Given the description of an element on the screen output the (x, y) to click on. 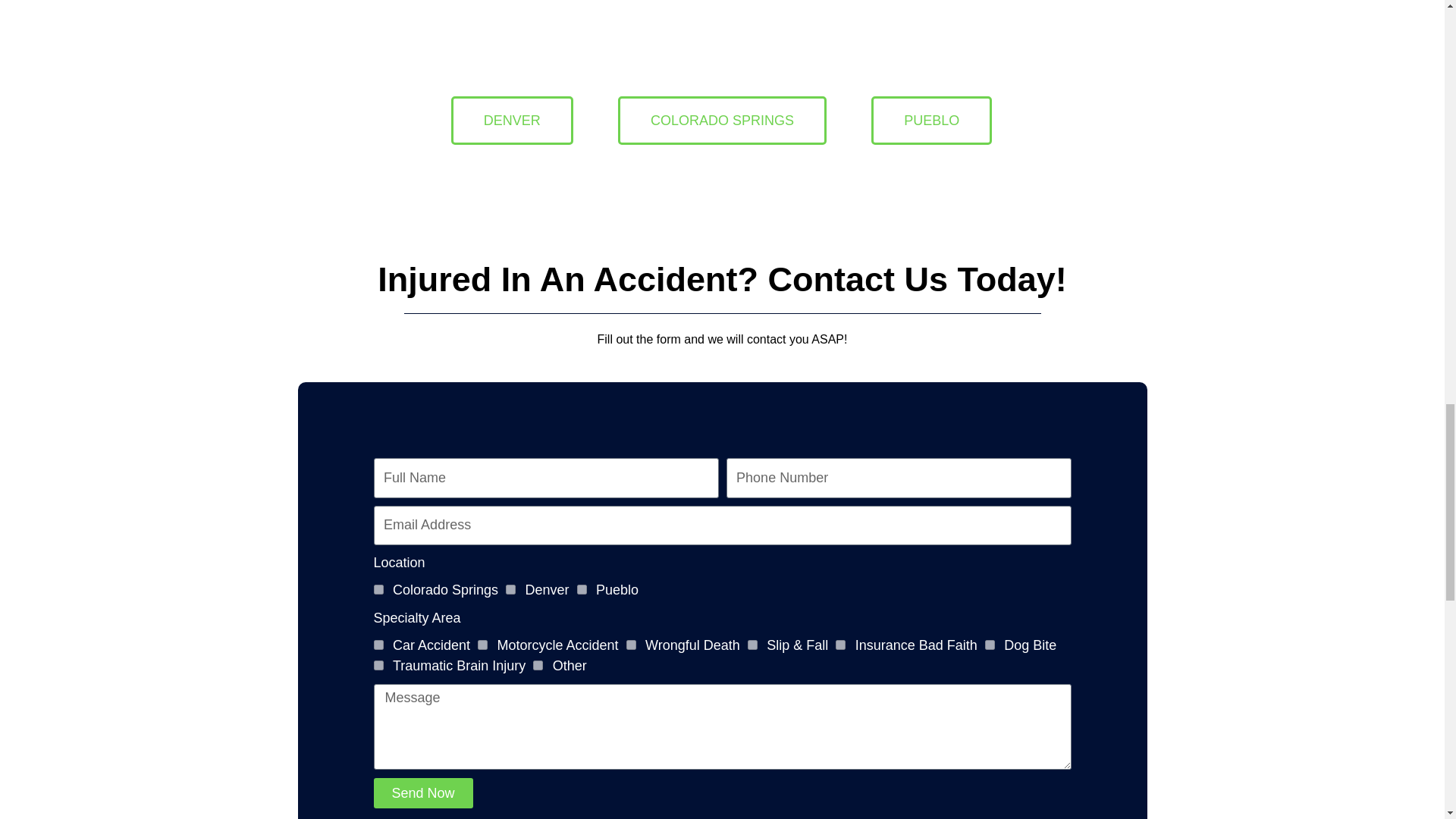
Dog Bite (989, 644)
Pueblo (581, 589)
Car Accident (377, 644)
Traumatic Brain Injury (377, 665)
Insurance Bad Faith (840, 644)
Wrongful Death (631, 644)
Other (537, 665)
Denver (510, 589)
Motorcycle Accident (482, 644)
Colorado Springs (377, 589)
